Given the description of an element on the screen output the (x, y) to click on. 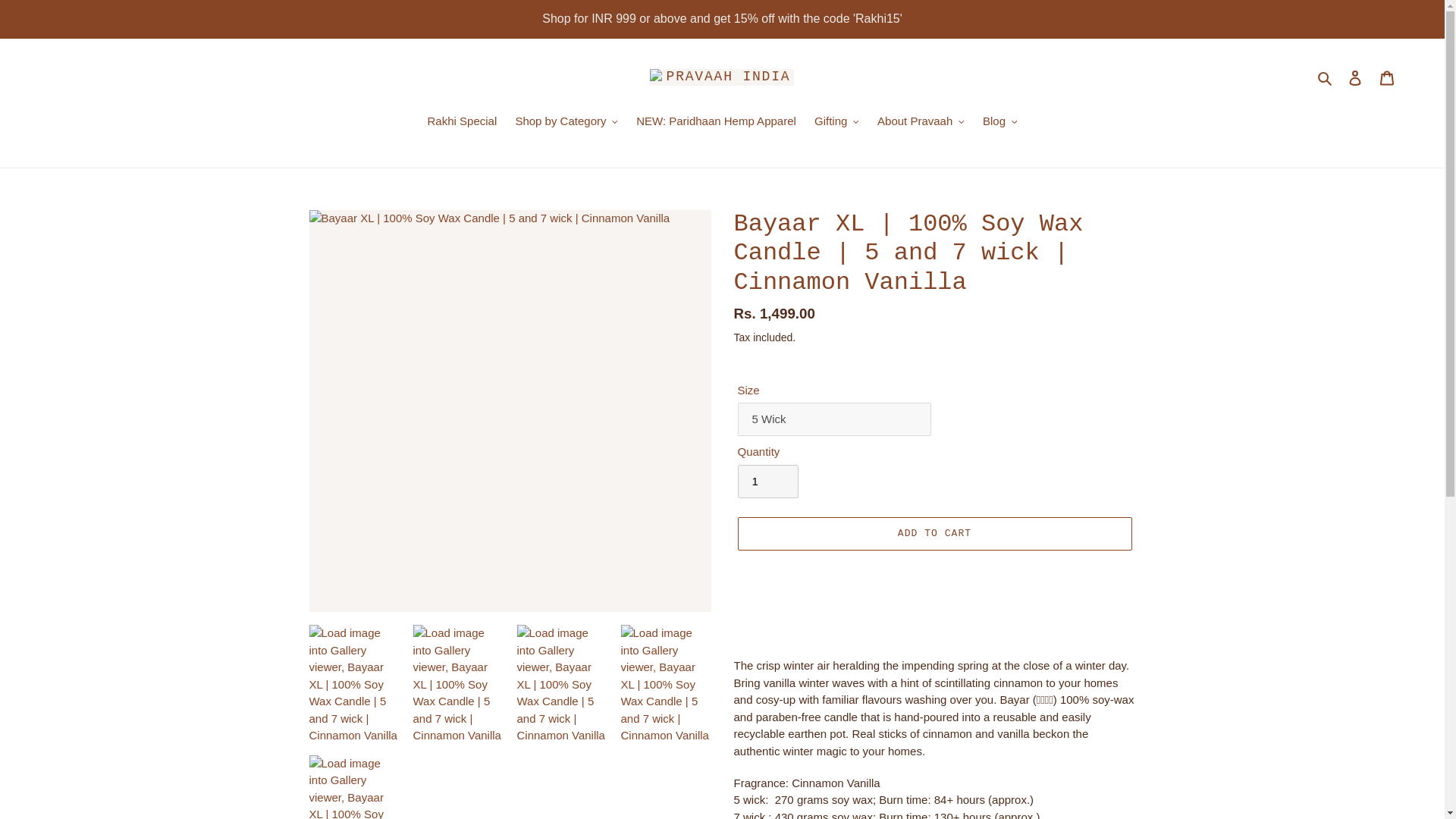
Cart (1387, 77)
Log in (1355, 77)
1 (766, 481)
Search (1326, 76)
